Given the description of an element on the screen output the (x, y) to click on. 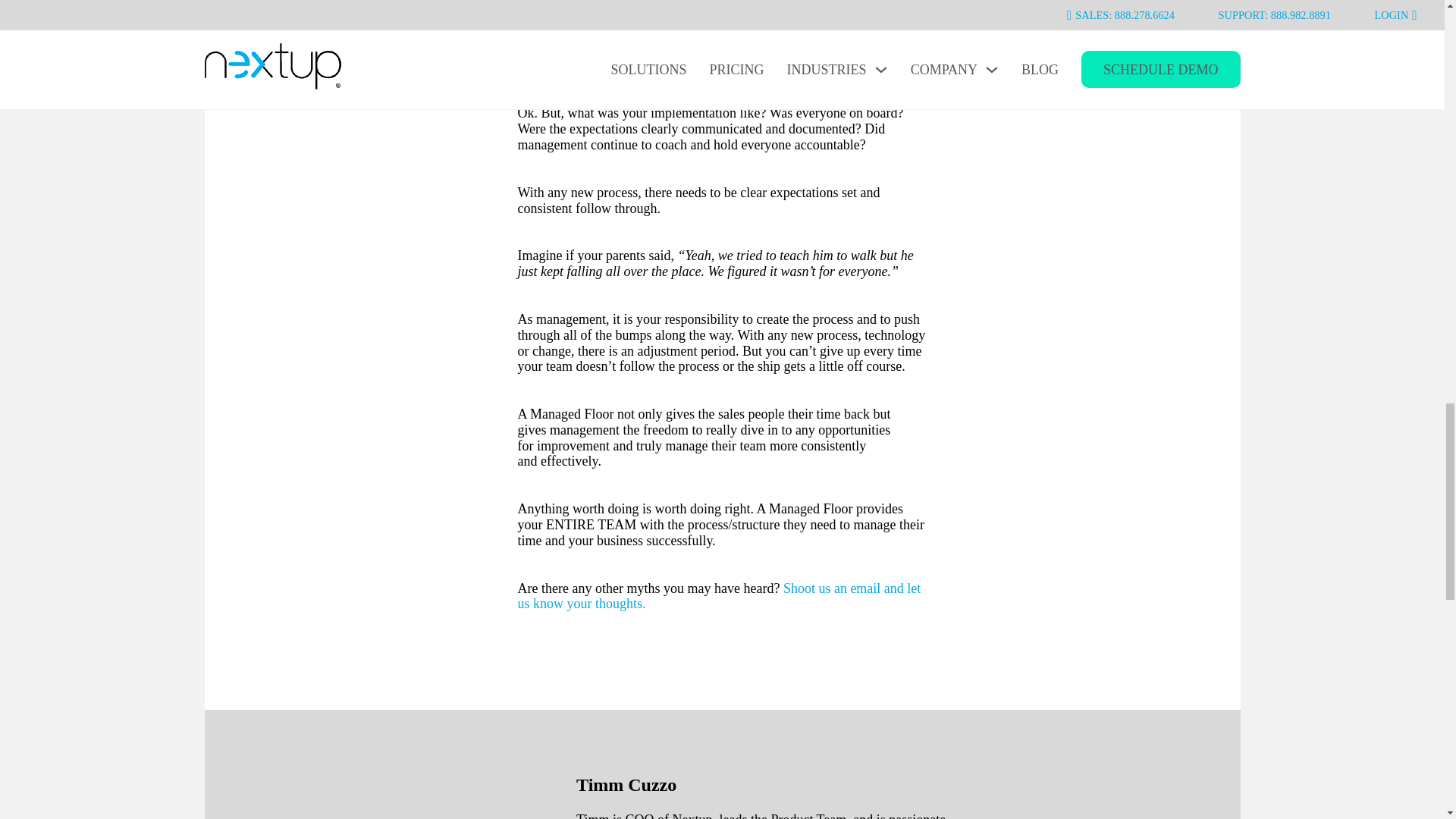
Shoot us an email and let us know your thoughts. (718, 595)
